Given the description of an element on the screen output the (x, y) to click on. 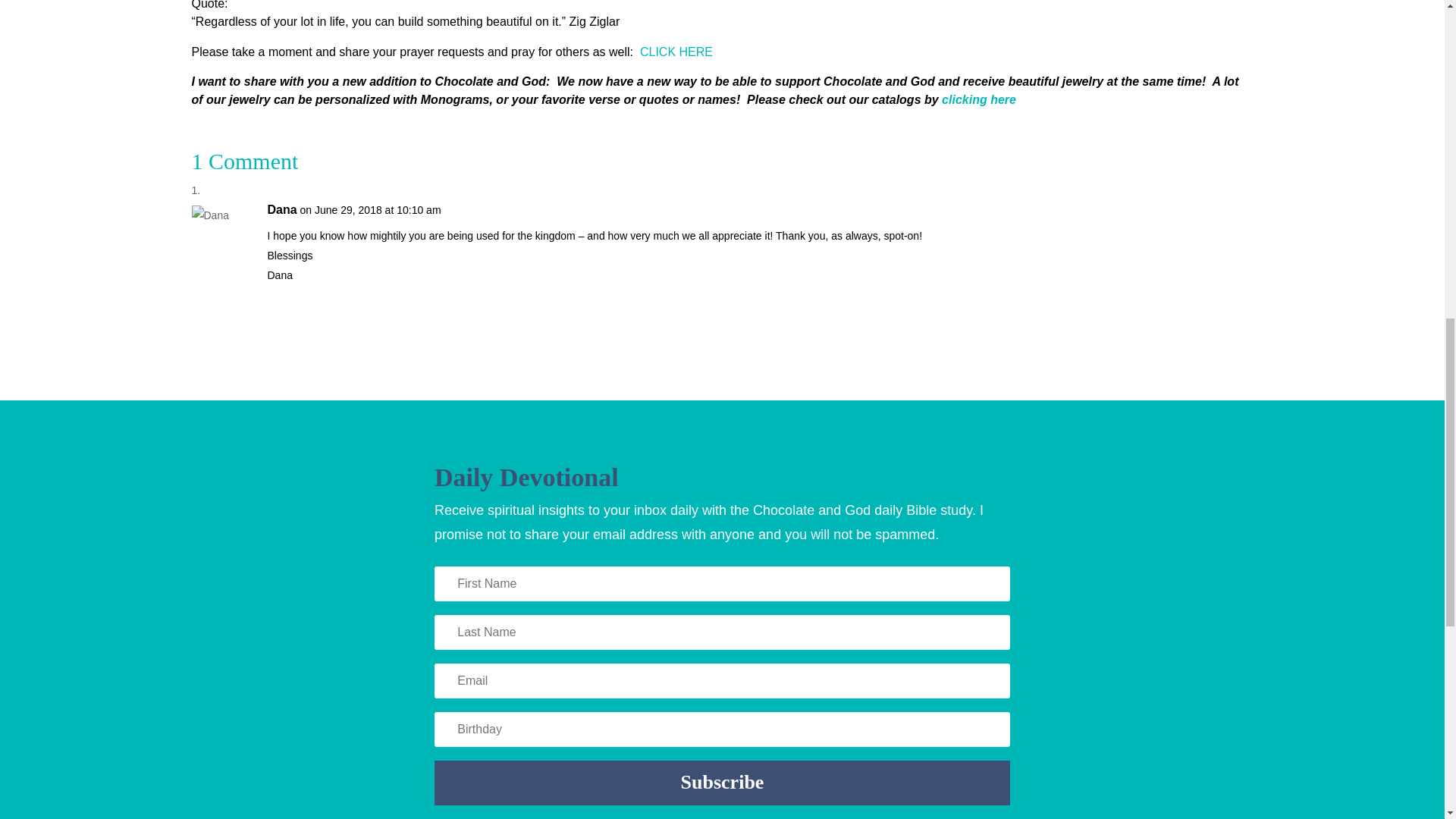
clicking here  (980, 99)
CLICK HERE (676, 51)
Subscribe (721, 782)
